Given the description of an element on the screen output the (x, y) to click on. 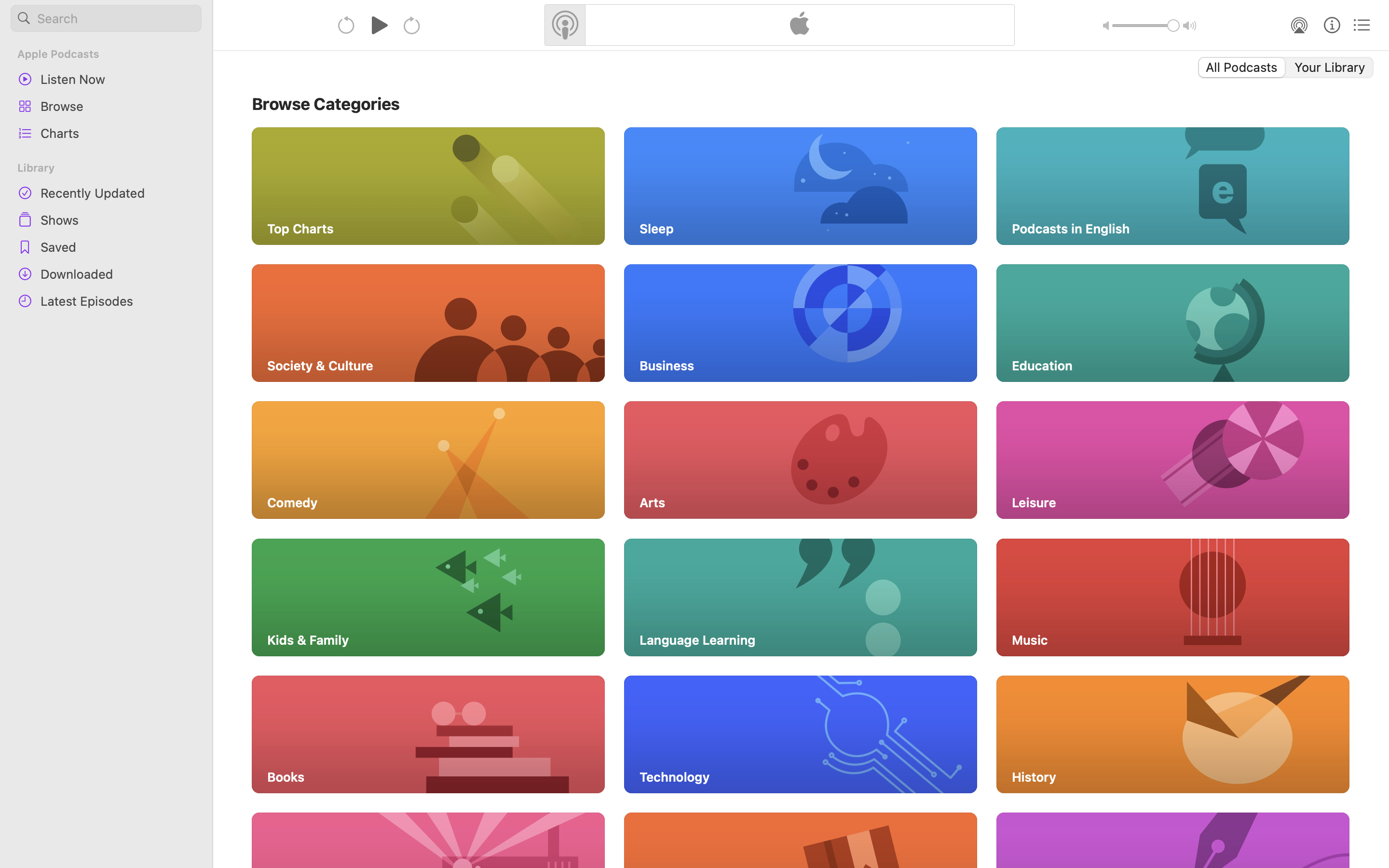
1.0 Element type: AXSlider (1145, 25)
1 Element type: AXRadioButton (1240, 67)
0 Element type: AXRadioButton (1330, 67)
